Given the description of an element on the screen output the (x, y) to click on. 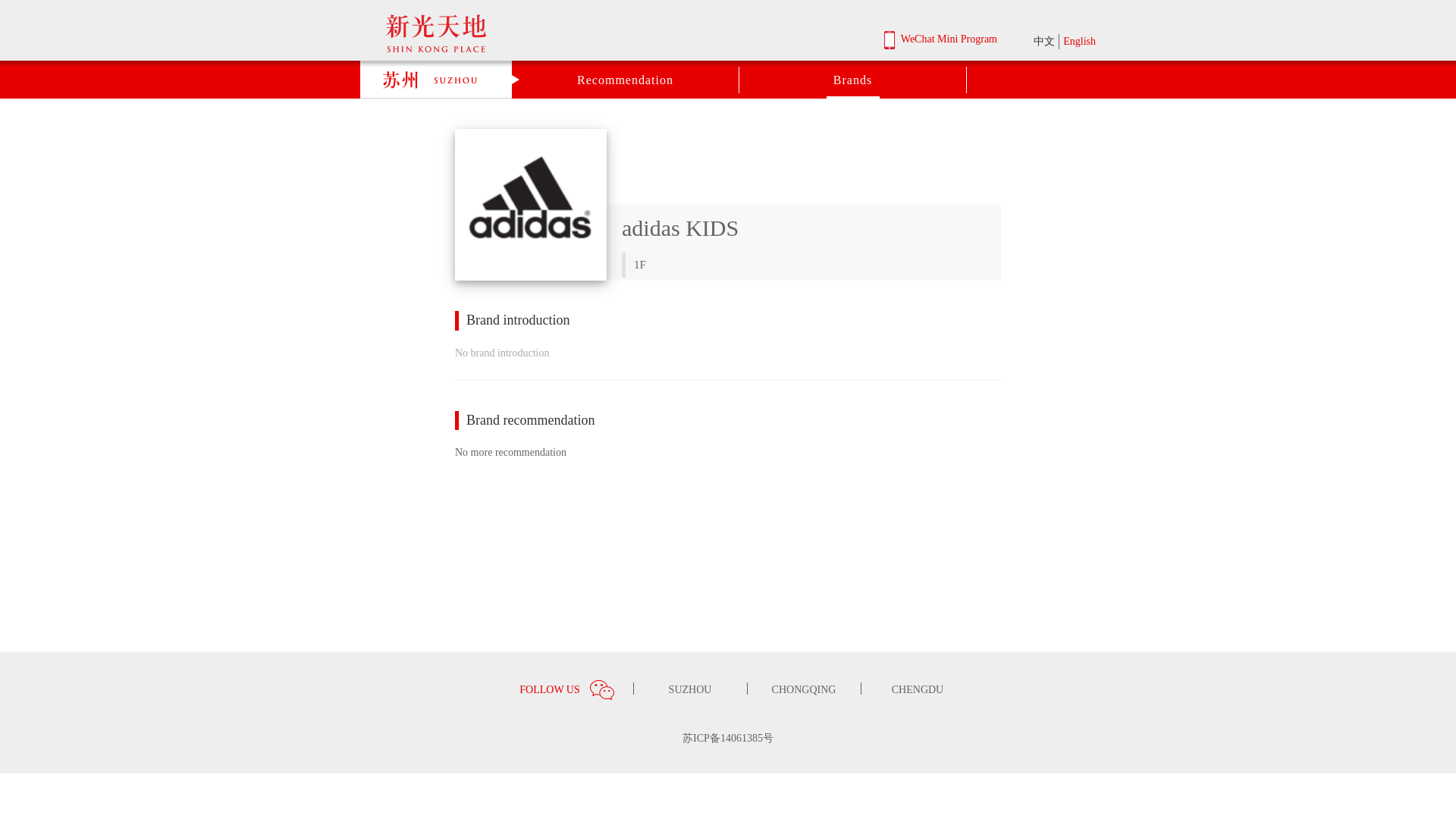
Information (625, 105)
Recommendation (625, 79)
Brands (852, 79)
